Given the description of an element on the screen output the (x, y) to click on. 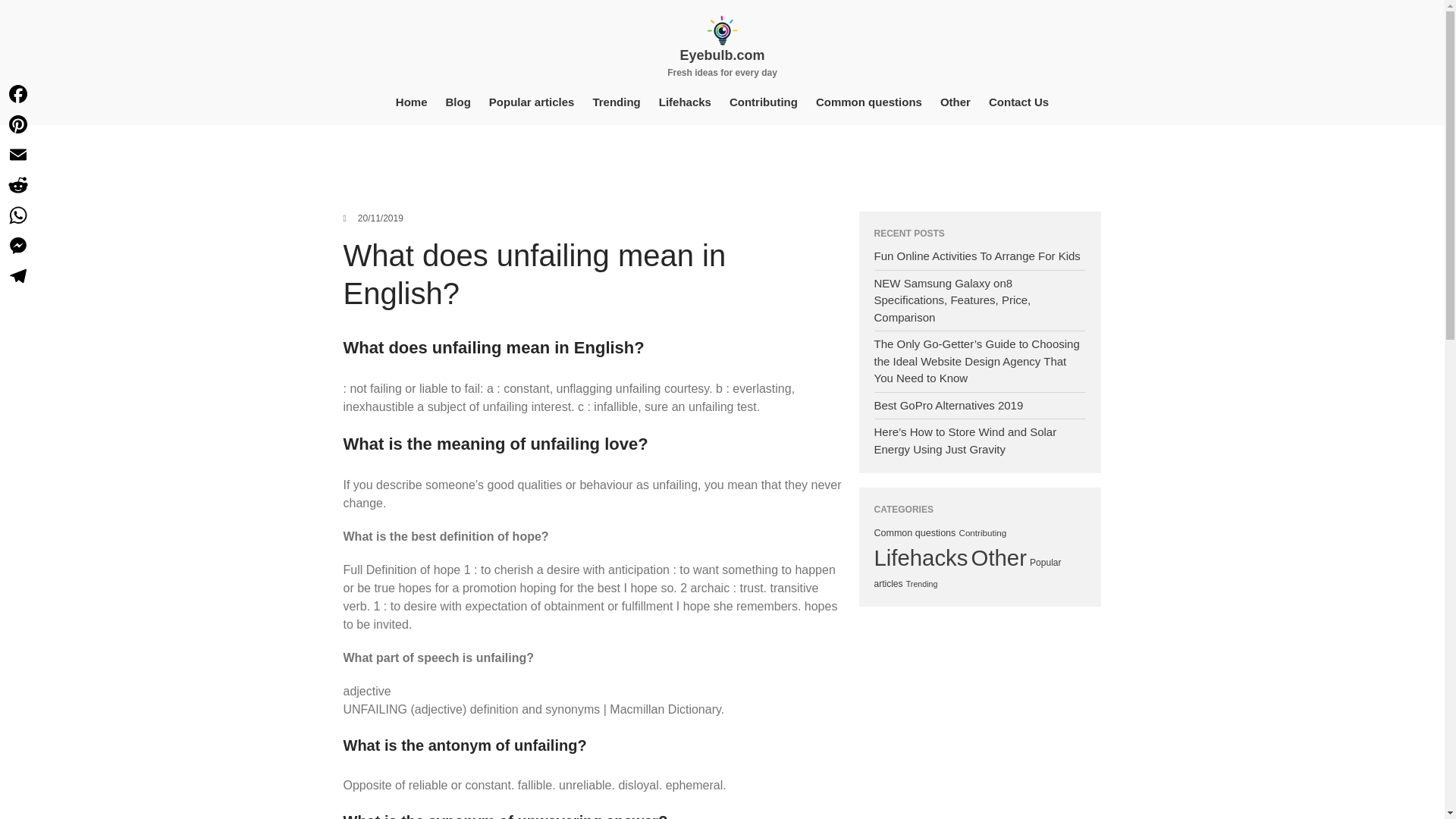
Eyebulb.com (721, 55)
Contact Us (1019, 102)
Pinterest (17, 123)
Fun Online Activities To Arrange For Kids (976, 255)
Email (17, 154)
Blog (458, 102)
Other (998, 557)
Contributing (763, 102)
Facebook (17, 93)
Reddit (17, 184)
Contributing (982, 532)
Home (411, 102)
Trending (616, 102)
Lifehacks (920, 557)
Telegram (17, 276)
